Given the description of an element on the screen output the (x, y) to click on. 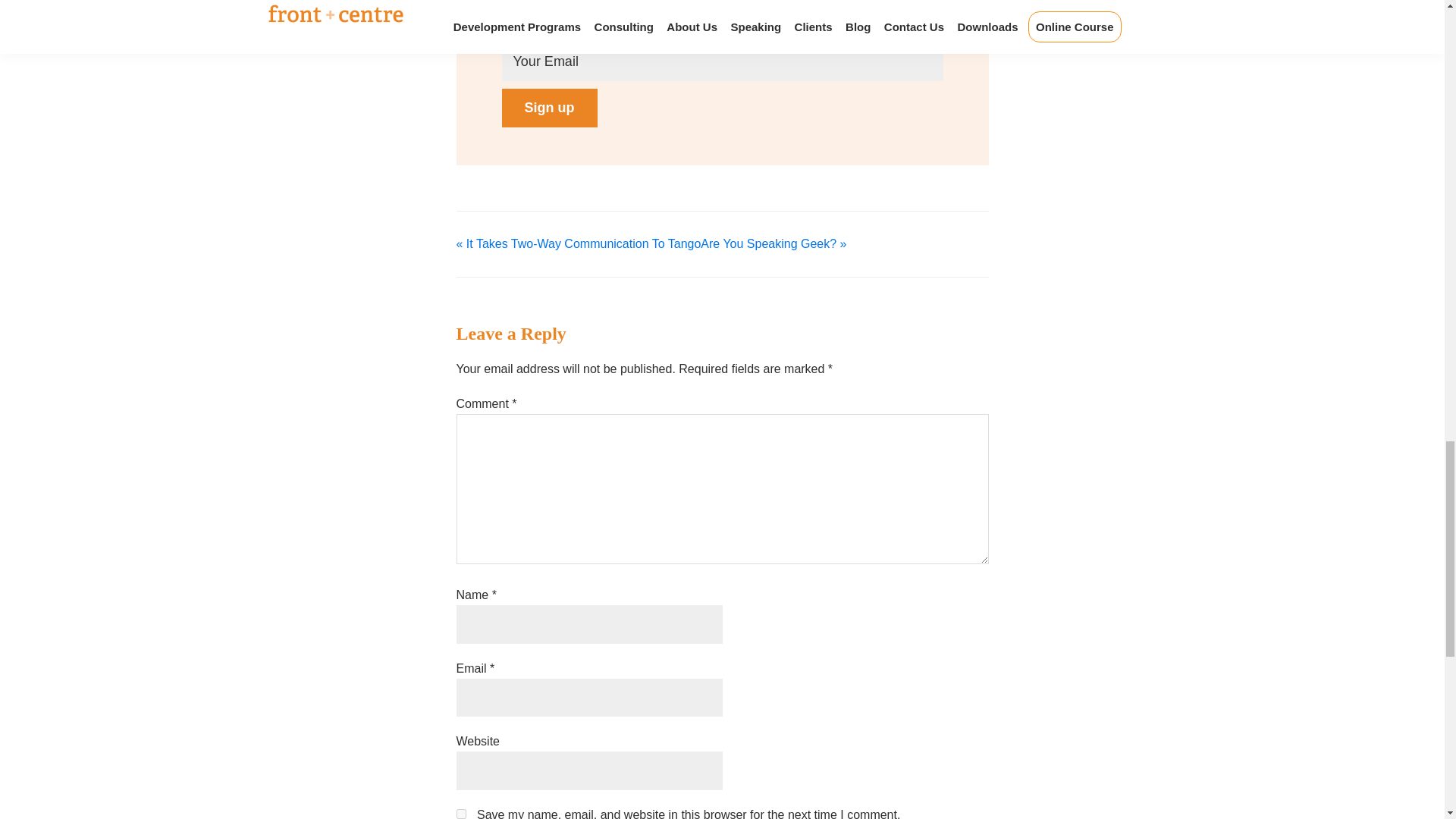
yes (461, 814)
Sign up (549, 107)
Sign up (549, 107)
